Given the description of an element on the screen output the (x, y) to click on. 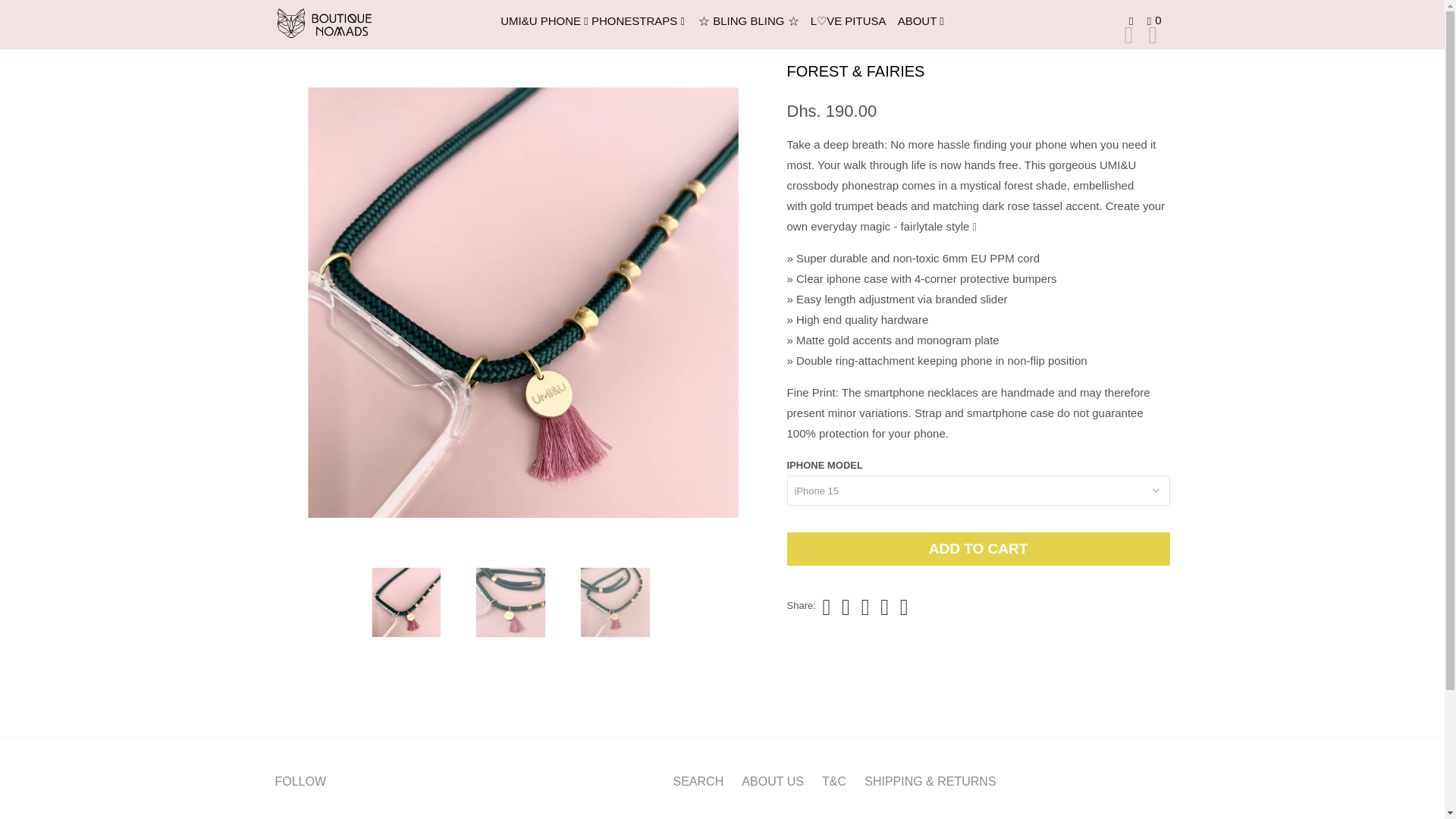
Boutique Nomads on Instagram (312, 815)
ABOUT (922, 21)
Boutique Nomads (352, 24)
Email Boutique Nomads (340, 815)
Boutique Nomads on Facebook (286, 815)
